Given the description of an element on the screen output the (x, y) to click on. 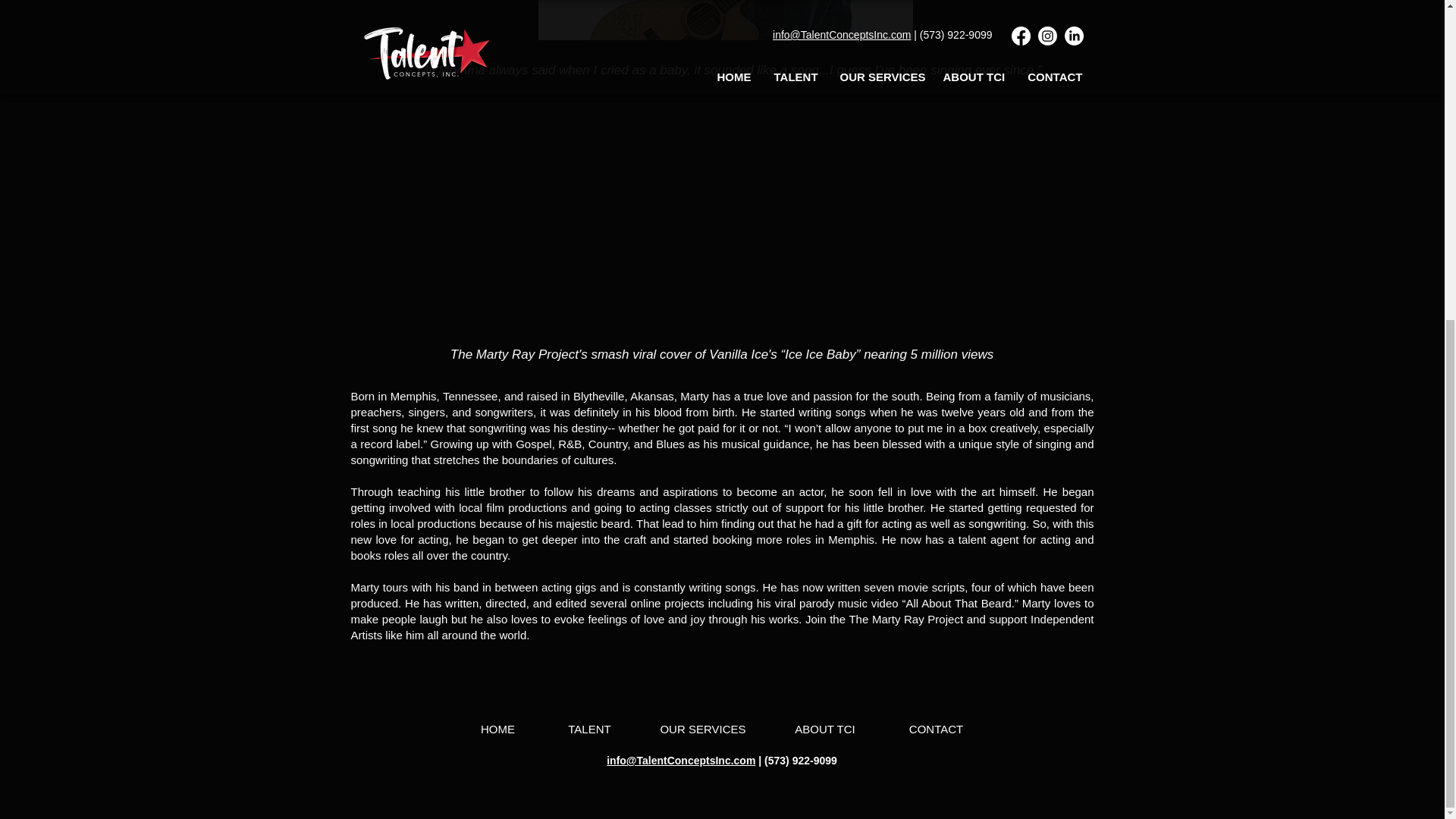
TALENT (589, 729)
OUR SERVICES (702, 729)
HOME (496, 729)
ABOUT TCI (825, 729)
CONTACT (935, 729)
External YouTube (723, 212)
